Given the description of an element on the screen output the (x, y) to click on. 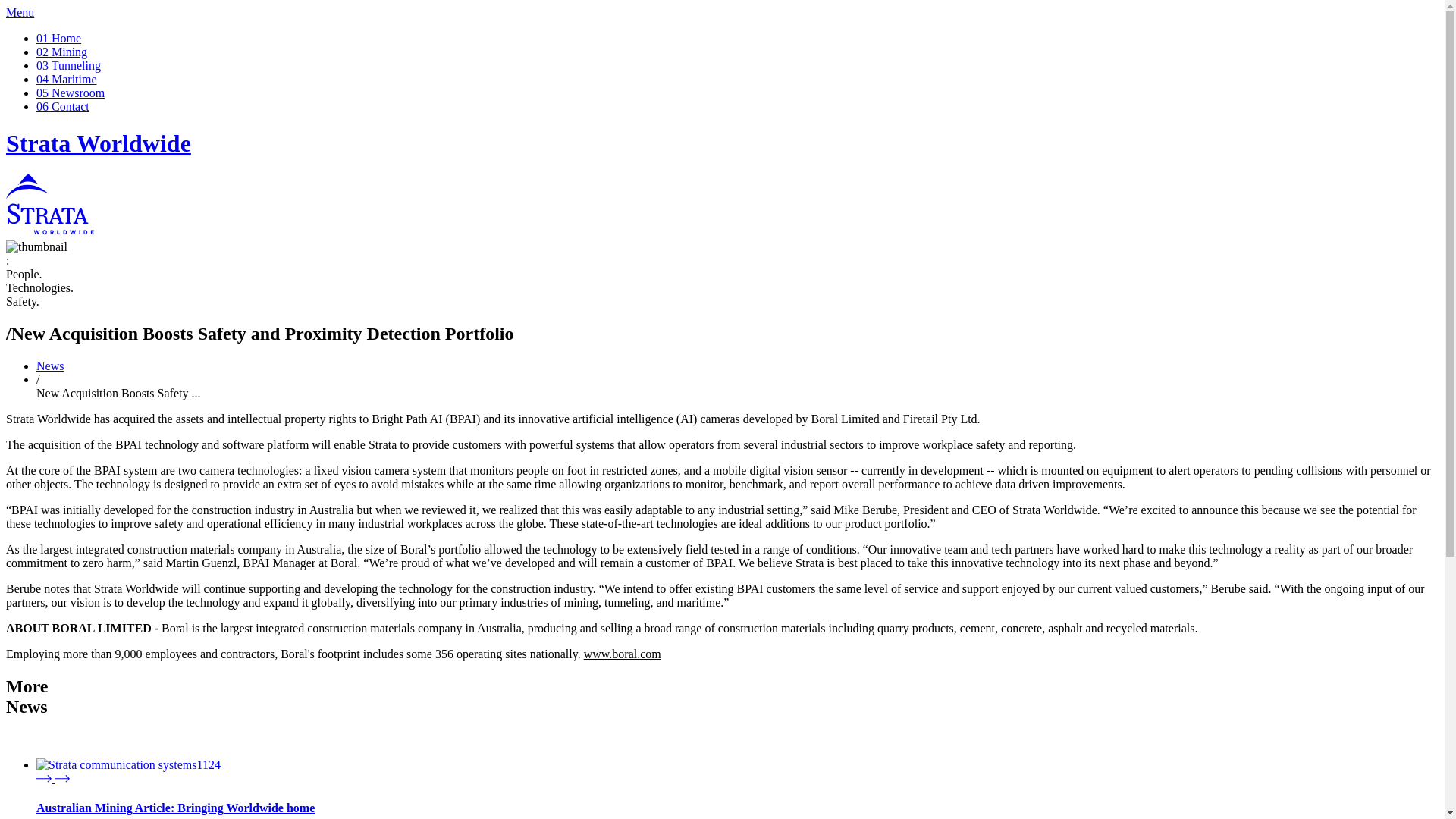
Menu (19, 11)
04 Maritime (66, 78)
Strata communication systems1124 (128, 765)
02 Mining (61, 51)
News (50, 365)
03 Tunneling (68, 65)
06 Contact (62, 106)
01 Home (58, 38)
05 Newsroom (70, 92)
